Given the description of an element on the screen output the (x, y) to click on. 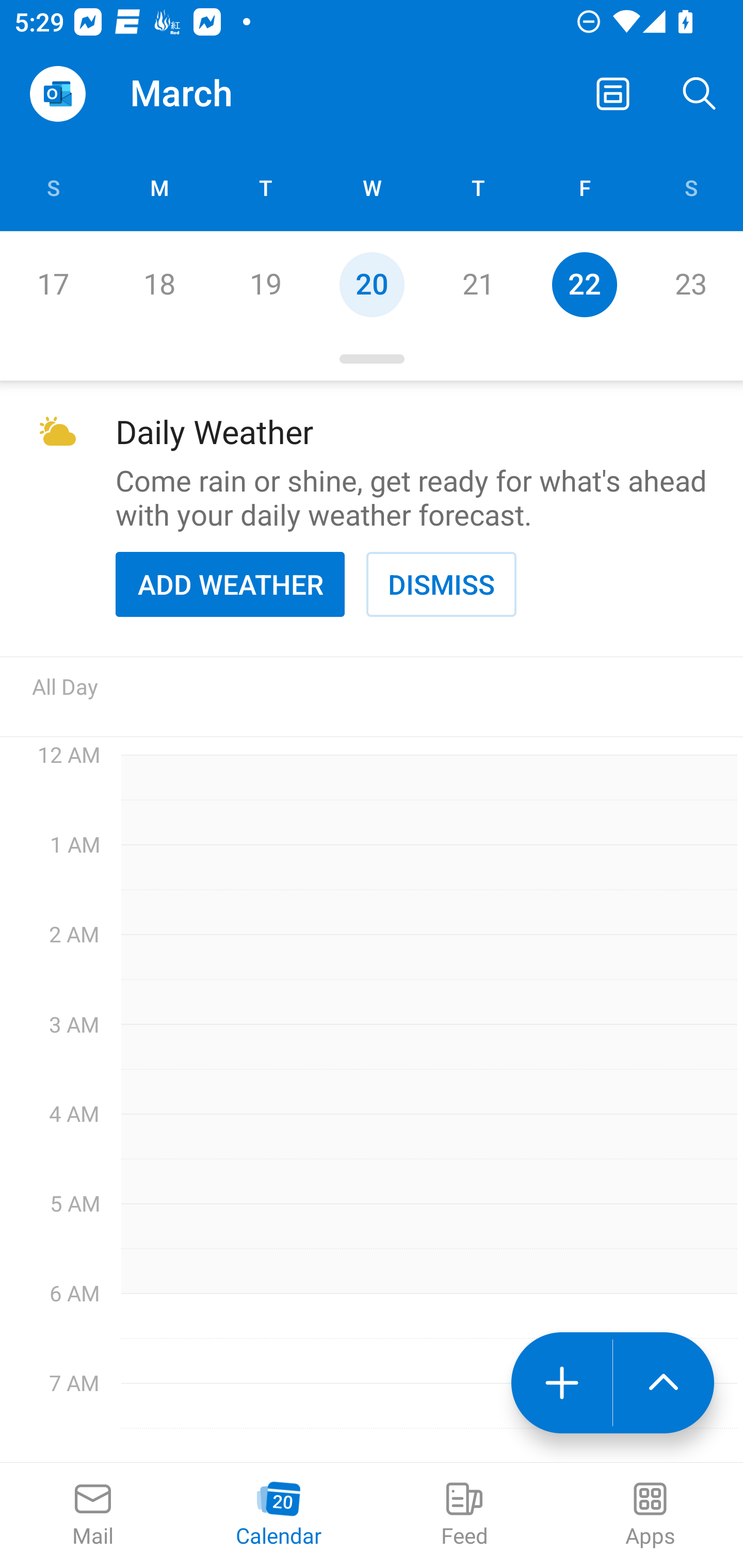
March March 2024, day picker (209, 93)
Switch away from Day view (612, 93)
Search, ,  (699, 93)
Open Navigation Drawer (57, 94)
17 Sunday, March 17 (53, 284)
18 Monday, March 18 (159, 284)
19 Tuesday, March 19 (265, 284)
20 Wednesday, March 20, today (371, 284)
21 Thursday, March 21 (477, 284)
22 Friday, March 22, Selected (584, 284)
23 Saturday, March 23 (690, 284)
Day picker (371, 359)
ADD WEATHER (230, 583)
DISMISS (440, 583)
New event (561, 1382)
launch the extended action menu (663, 1382)
Mail (92, 1515)
Feed (464, 1515)
Apps (650, 1515)
